Given the description of an element on the screen output the (x, y) to click on. 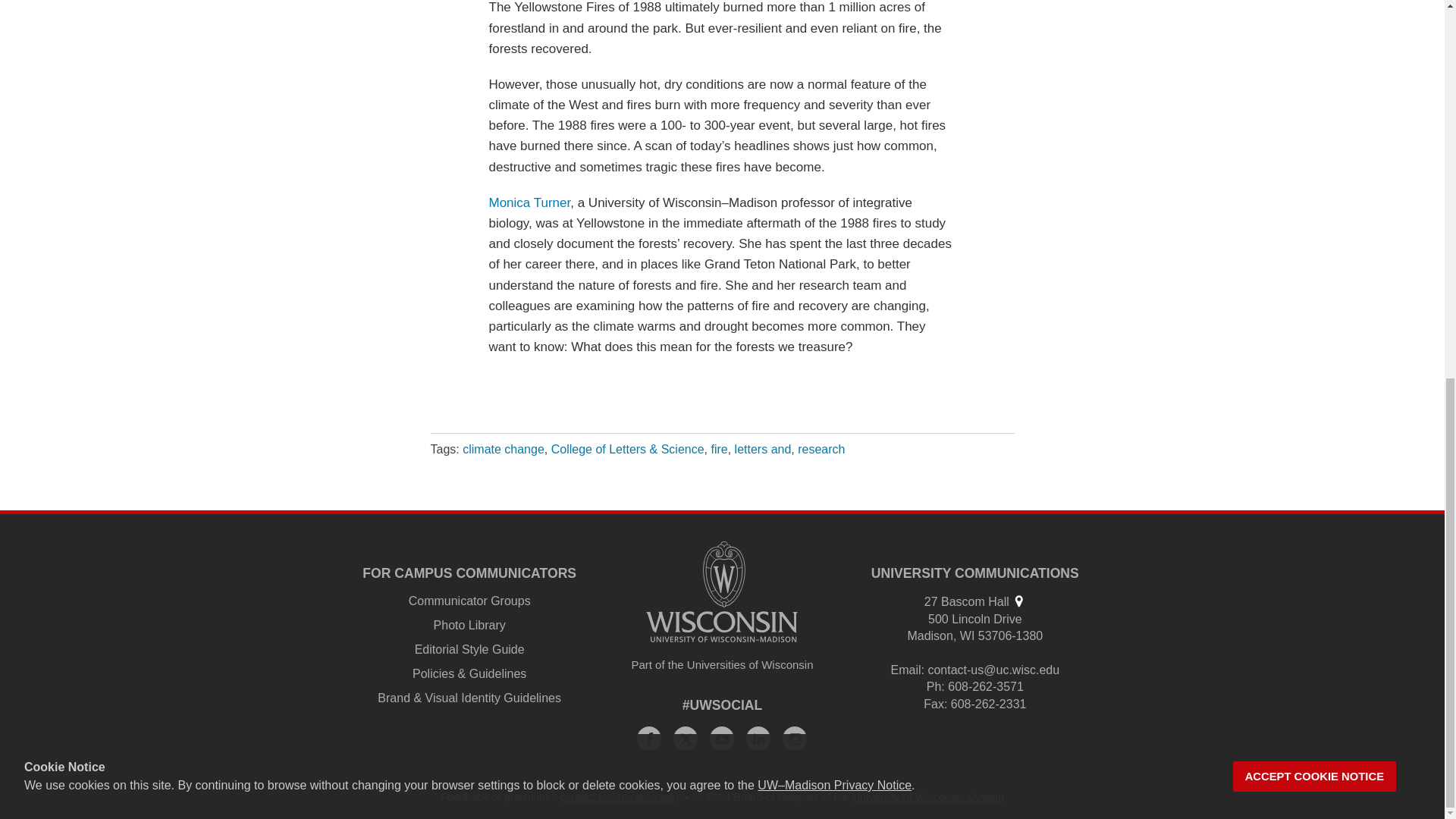
climate change (503, 449)
View on campus map (1018, 600)
Linked In (757, 738)
Wisconsin (967, 635)
letters and (763, 449)
research (820, 449)
University logo that links to main university website (721, 591)
Communicator Groups (470, 600)
Instagram (794, 738)
Social media links (722, 704)
Facebook (649, 738)
X, formerly Twitter (684, 738)
ACCEPT COOKIE NOTICE (1314, 76)
fire (718, 449)
phone (934, 686)
